Given the description of an element on the screen output the (x, y) to click on. 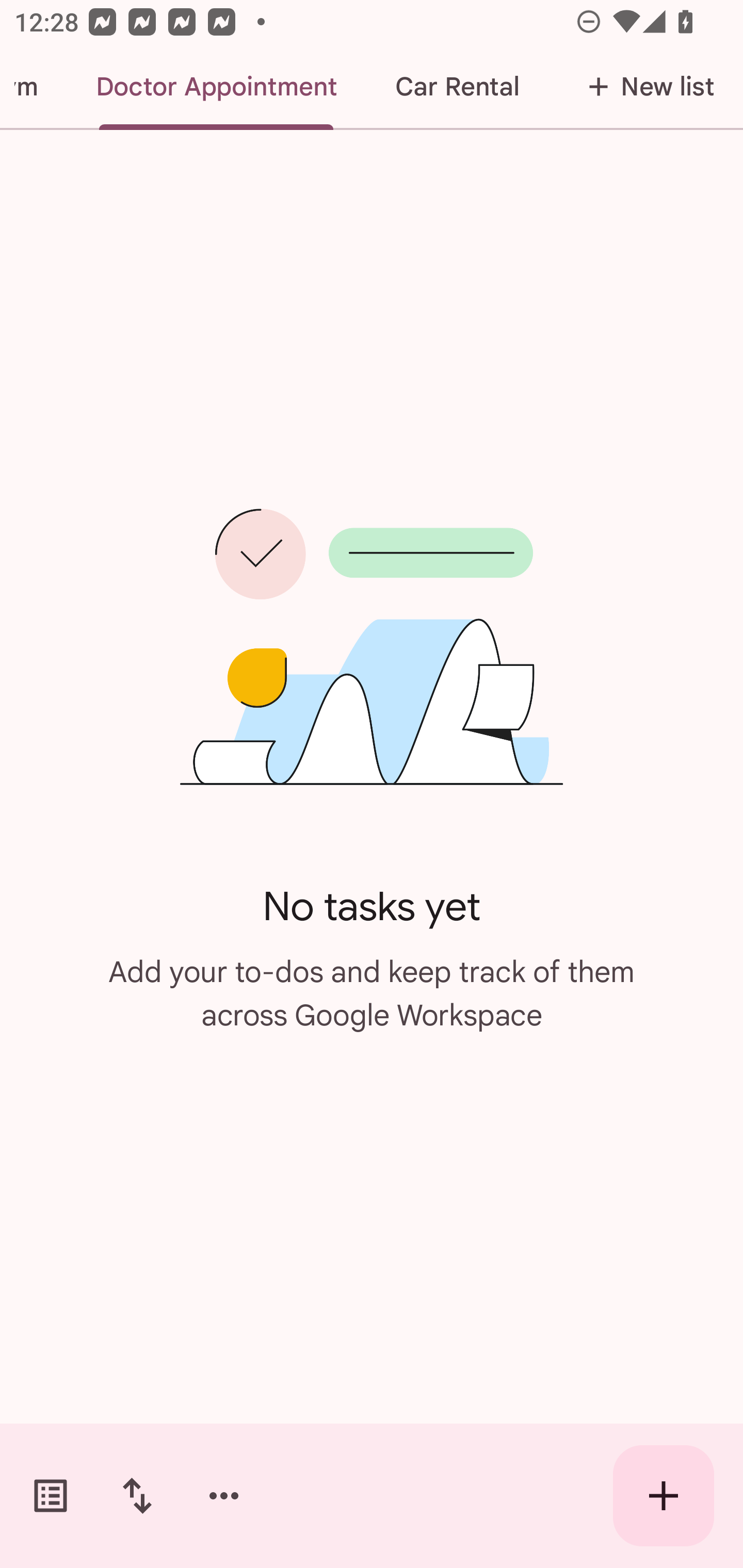
Gym (33, 86)
Car Rental (456, 86)
New list (645, 86)
Switch task lists (50, 1495)
Create new task (663, 1495)
Change sort order (136, 1495)
More options (223, 1495)
